Given the description of an element on the screen output the (x, y) to click on. 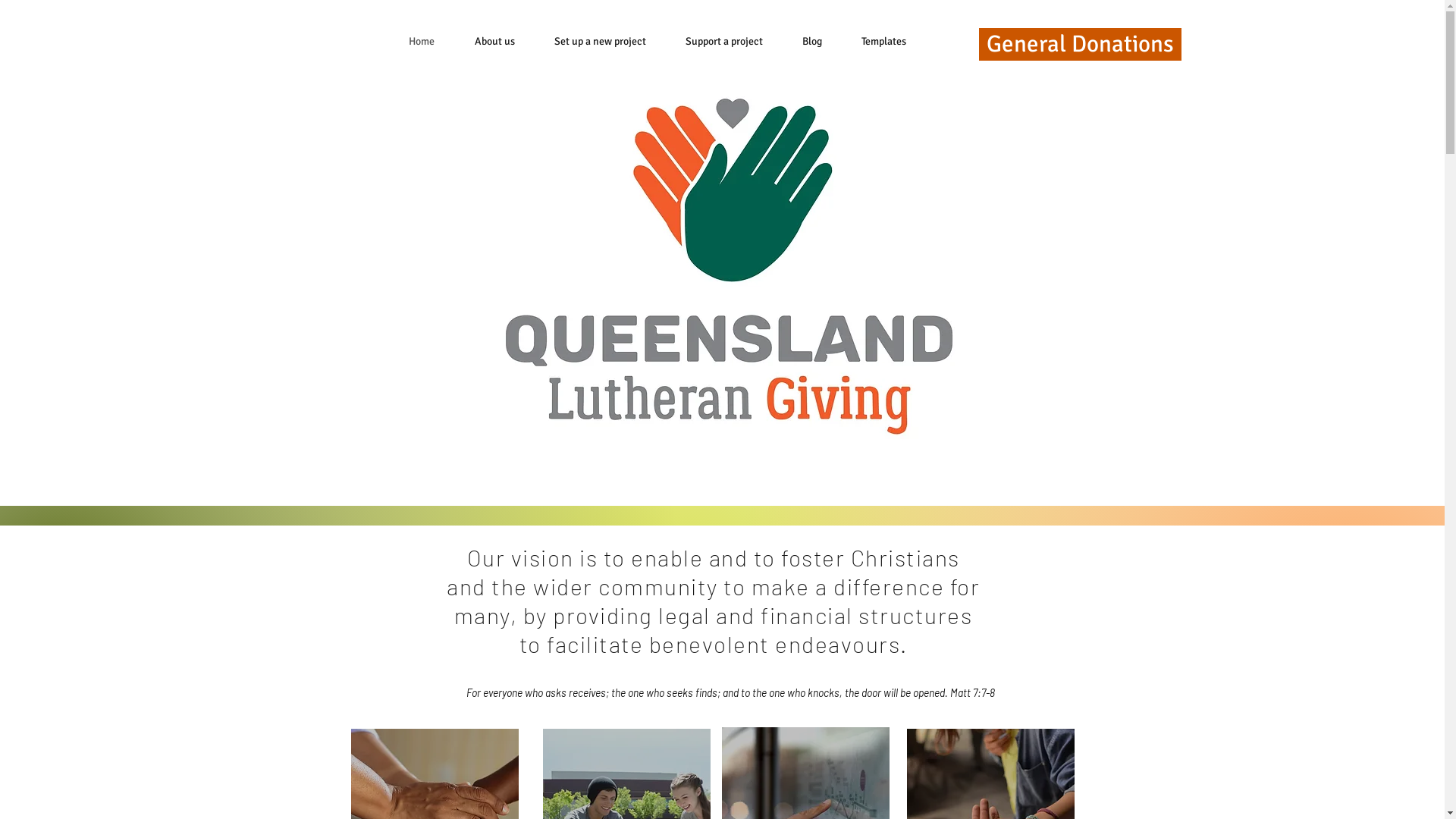
Home Element type: text (421, 41)
Templates Element type: text (883, 41)
Support a project Element type: text (723, 41)
Blog Element type: text (811, 41)
About us Element type: text (494, 41)
Set up a new project Element type: text (599, 41)
General Donations Element type: text (1079, 44)
